Given the description of an element on the screen output the (x, y) to click on. 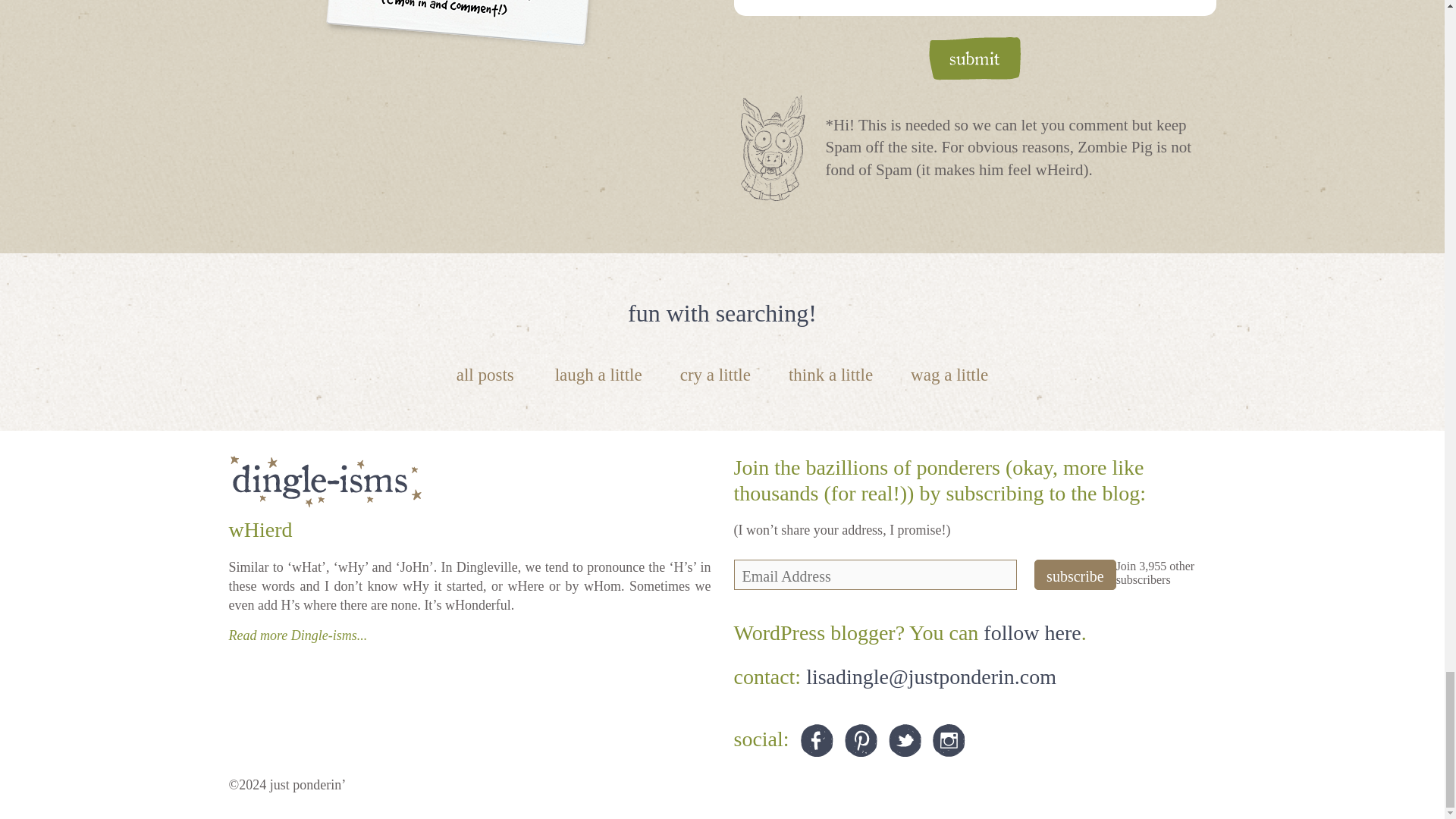
Read more Dingle-isms... (298, 635)
wag a little (949, 374)
laugh a little (598, 374)
all posts (485, 374)
cry a little (715, 374)
follow here (1032, 632)
See all events (485, 374)
Submit (974, 58)
View all programs for Think A Little (830, 374)
Submit (974, 58)
subscribe (1074, 574)
think a little (830, 374)
View all programs for Laugh A Little (598, 374)
View all programs for Cry A Little (715, 374)
View all programs for Wag A Little (949, 374)
